Given the description of an element on the screen output the (x, y) to click on. 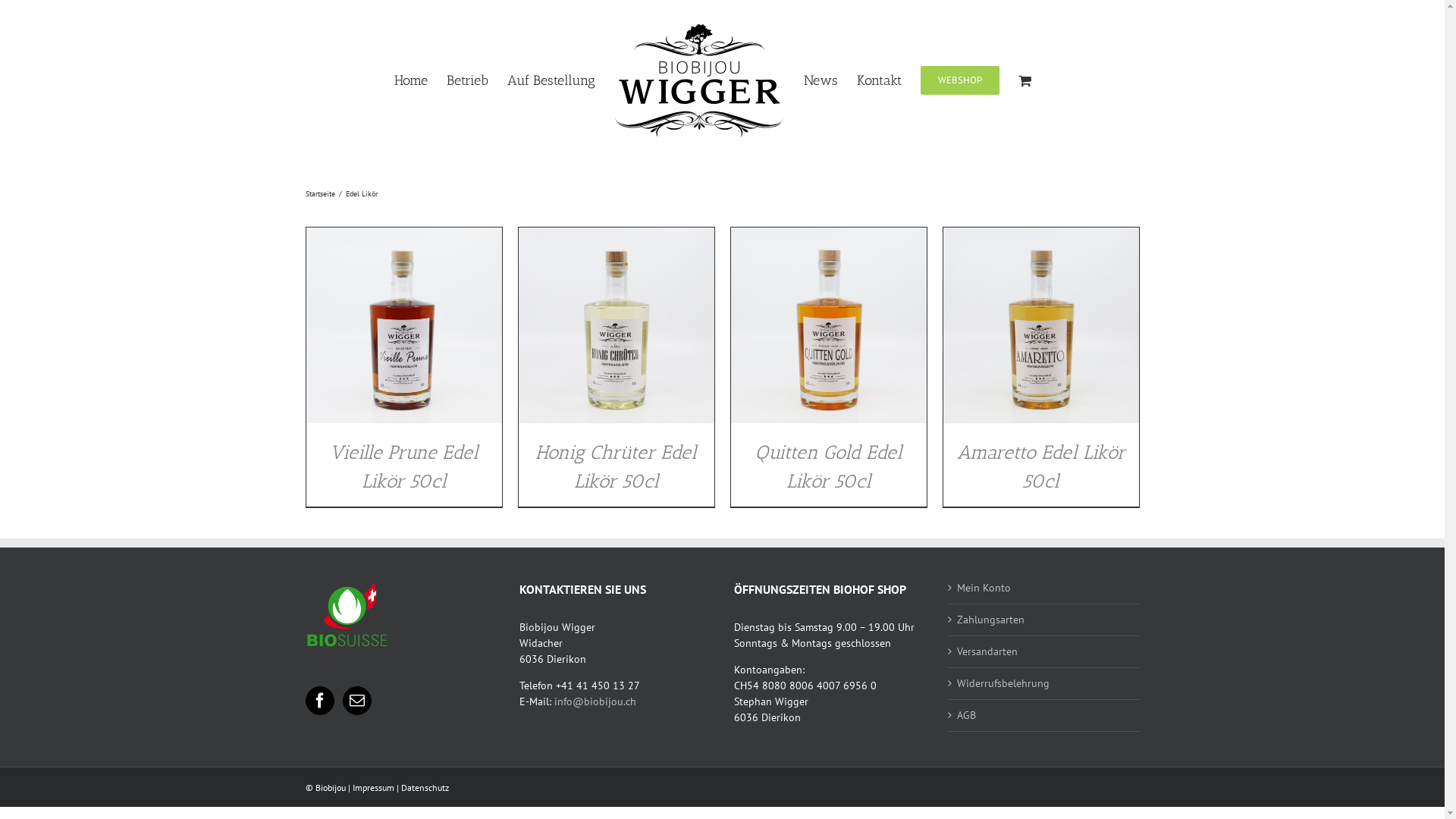
Startseite Element type: text (319, 193)
Auf Bestellung Element type: text (551, 80)
Zahlungsarten Element type: text (1044, 619)
Kontakt Element type: text (878, 80)
Home Element type: text (410, 80)
Impressum | Datenschutz Element type: text (399, 787)
WEBSHOP Element type: text (959, 80)
info@biobijou.ch Element type: text (595, 701)
Betrieb Element type: text (467, 80)
Widerrufsbelehrung Element type: text (1044, 683)
AGB Element type: text (1044, 715)
News Element type: text (820, 80)
Versandarten Element type: text (1044, 651)
Mein Konto Element type: text (1044, 588)
